Given the description of an element on the screen output the (x, y) to click on. 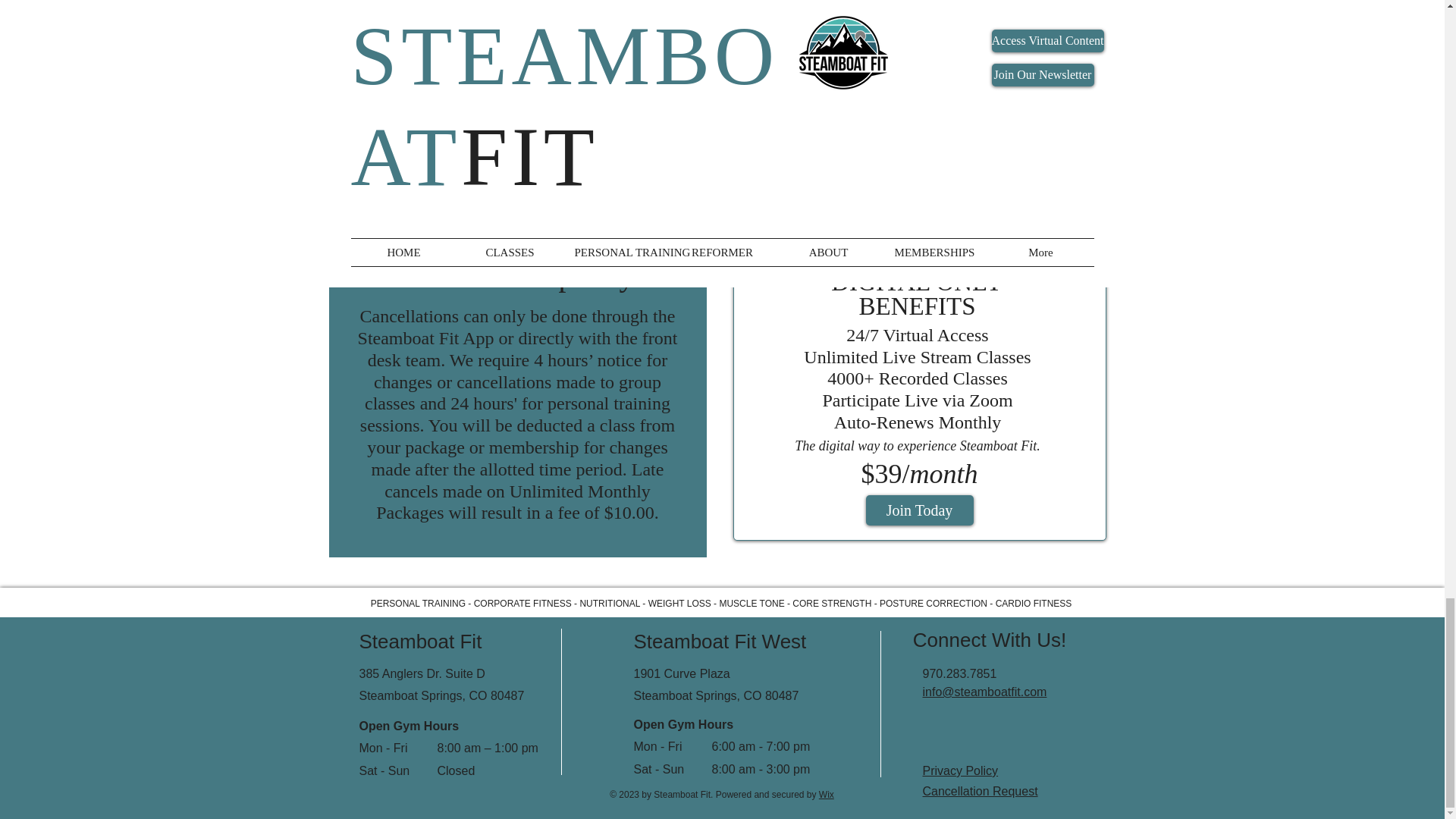
Privacy Policy (959, 770)
Join Today (515, 132)
Wix (826, 794)
Join Today (920, 510)
Join Today (920, 155)
Cancellation Request (978, 790)
